Given the description of an element on the screen output the (x, y) to click on. 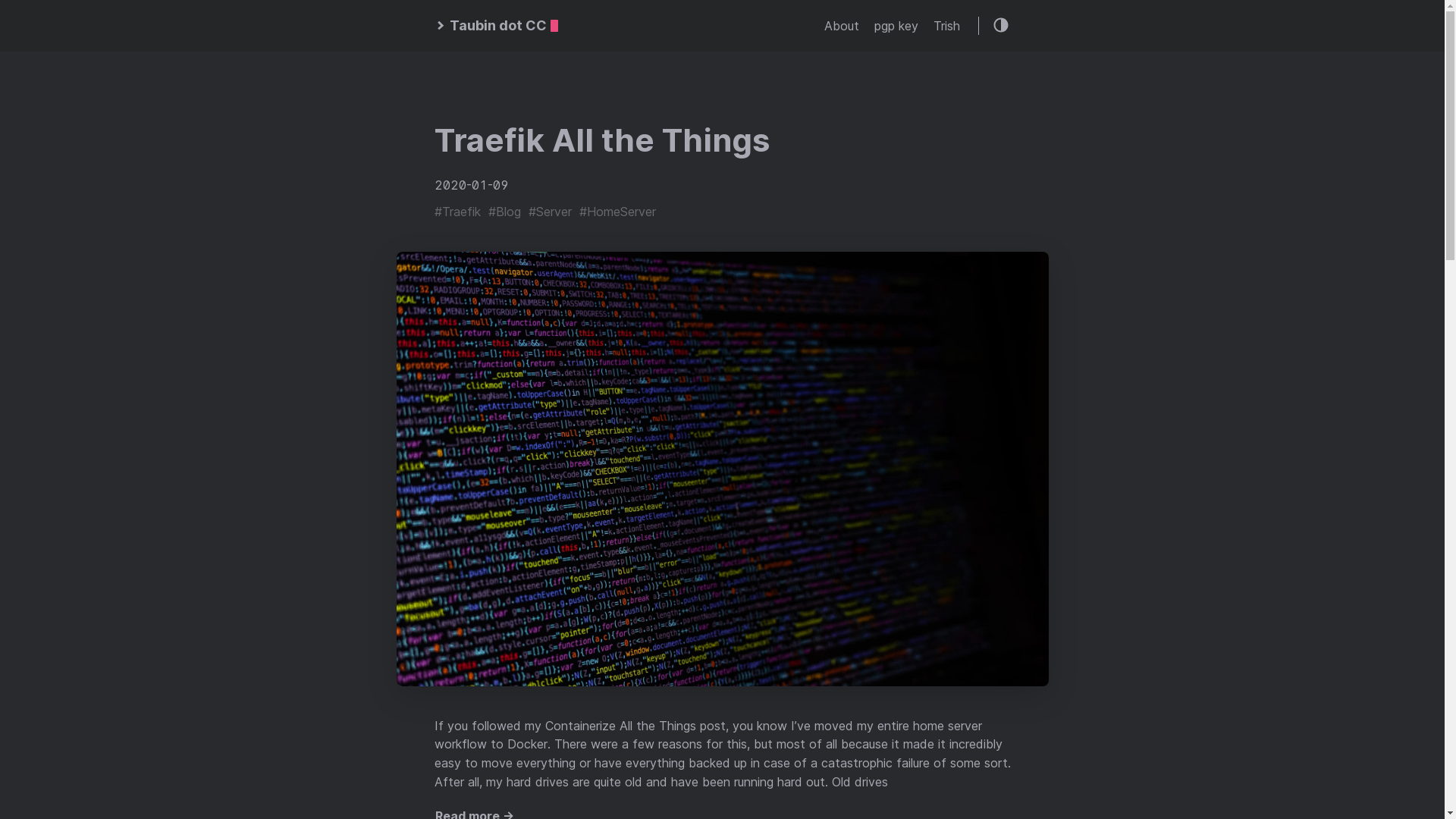
About Element type: text (840, 25)
#Traefik Element type: text (456, 211)
Traefik All the Things Element type: text (600, 139)
Taubin dot CC Element type: text (495, 25)
#Blog Element type: text (504, 211)
Trish Element type: text (945, 25)
#HomeServer Element type: text (617, 211)
#Server Element type: text (549, 211)
pgp key Element type: text (895, 25)
